Given the description of an element on the screen output the (x, y) to click on. 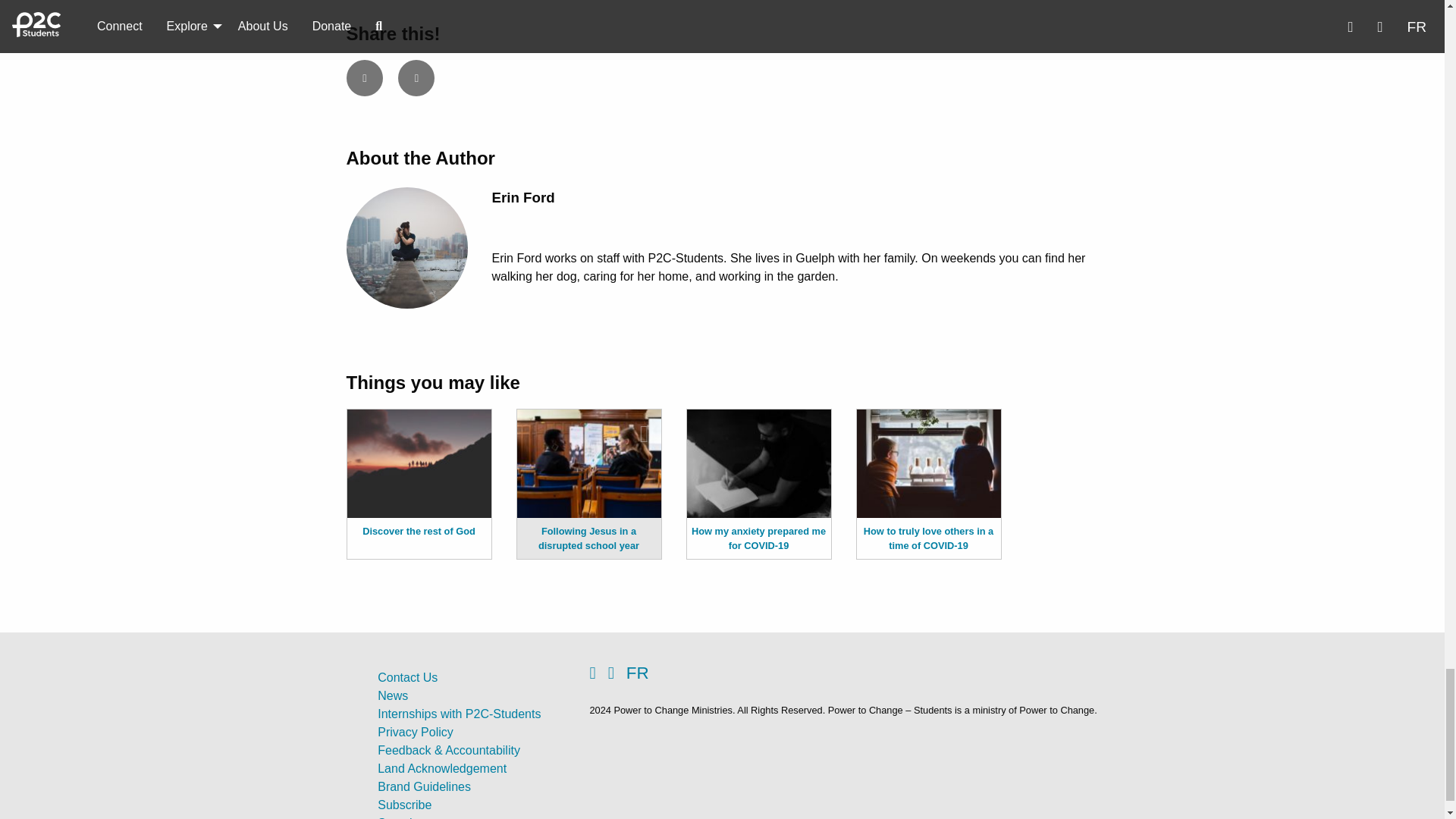
Twitter (415, 77)
Facebook (363, 77)
Instagram (617, 673)
Facebook (598, 673)
